Given the description of an element on the screen output the (x, y) to click on. 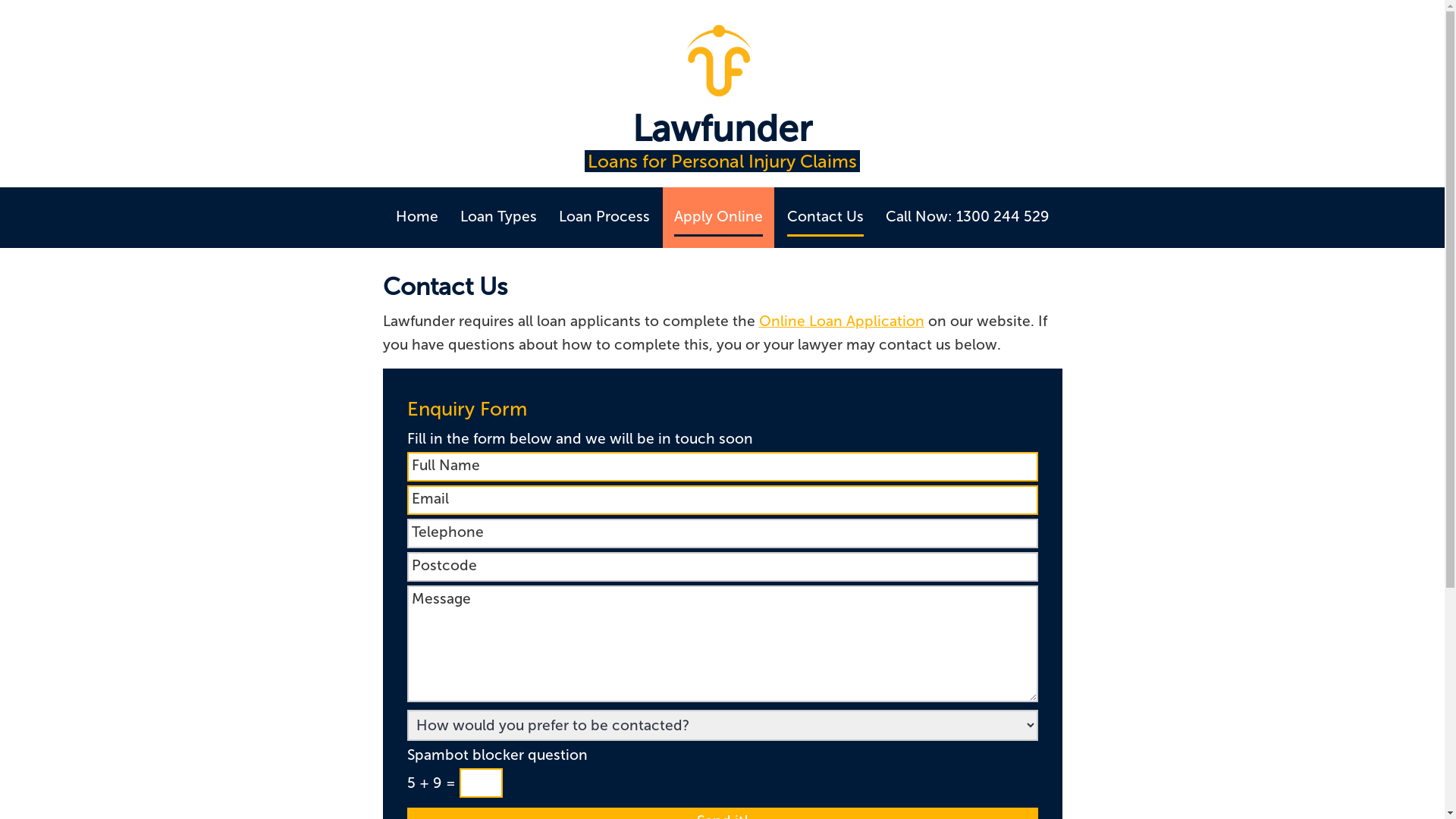
Call Now: 1300 244 529 Element type: text (967, 217)
Loan Types Element type: text (497, 217)
Home Element type: text (416, 217)
Apply Online Element type: text (717, 217)
Contact Us Element type: text (825, 217)
Loan Process Element type: text (603, 217)
Lawfunder Element type: text (722, 135)
Online Loan Application Element type: text (840, 320)
